Given the description of an element on the screen output the (x, y) to click on. 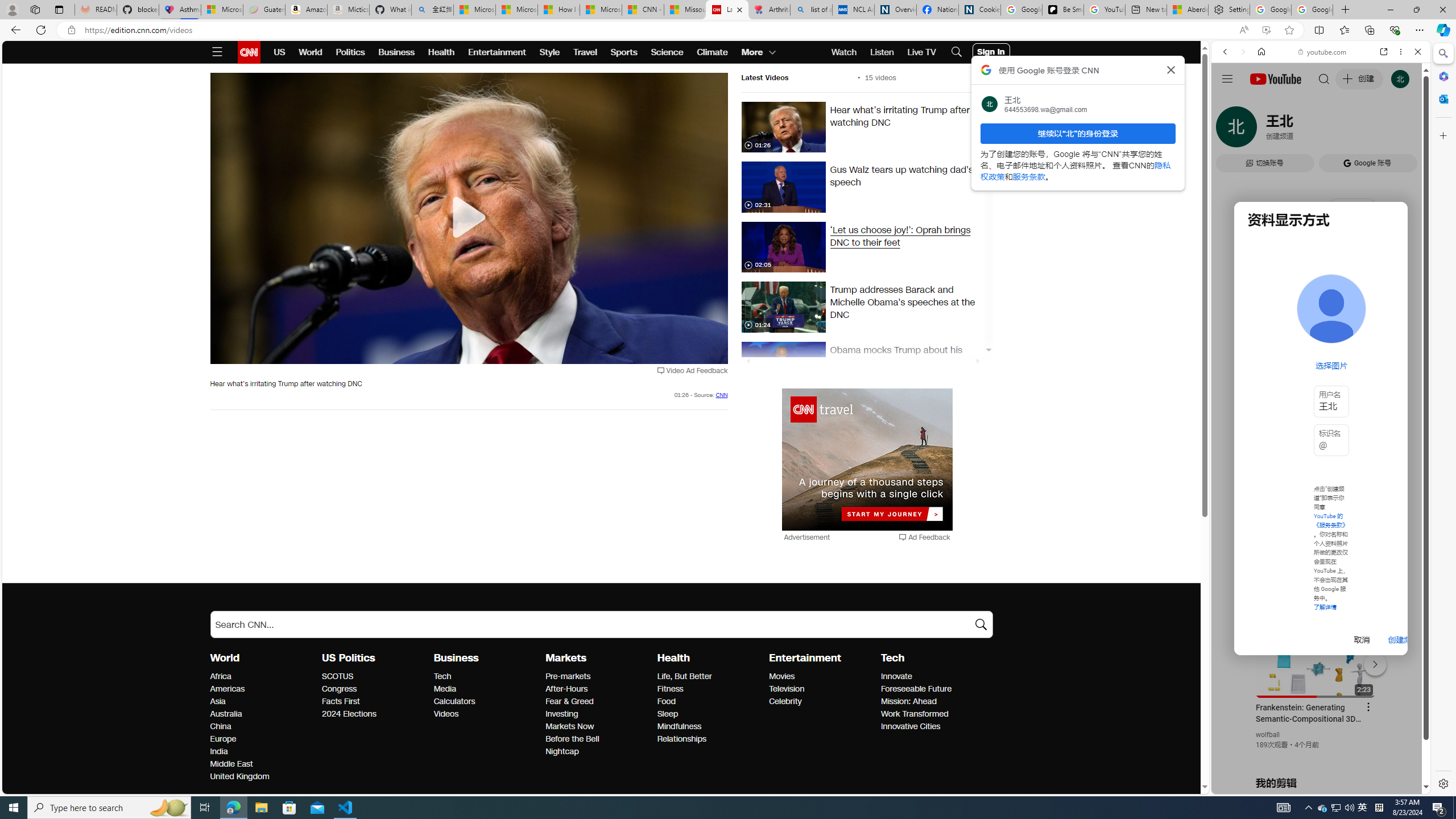
Media (485, 688)
US (279, 51)
World (224, 657)
Enhance video (1266, 29)
Health Sleep (667, 713)
Work Transformed (932, 714)
